Given the description of an element on the screen output the (x, y) to click on. 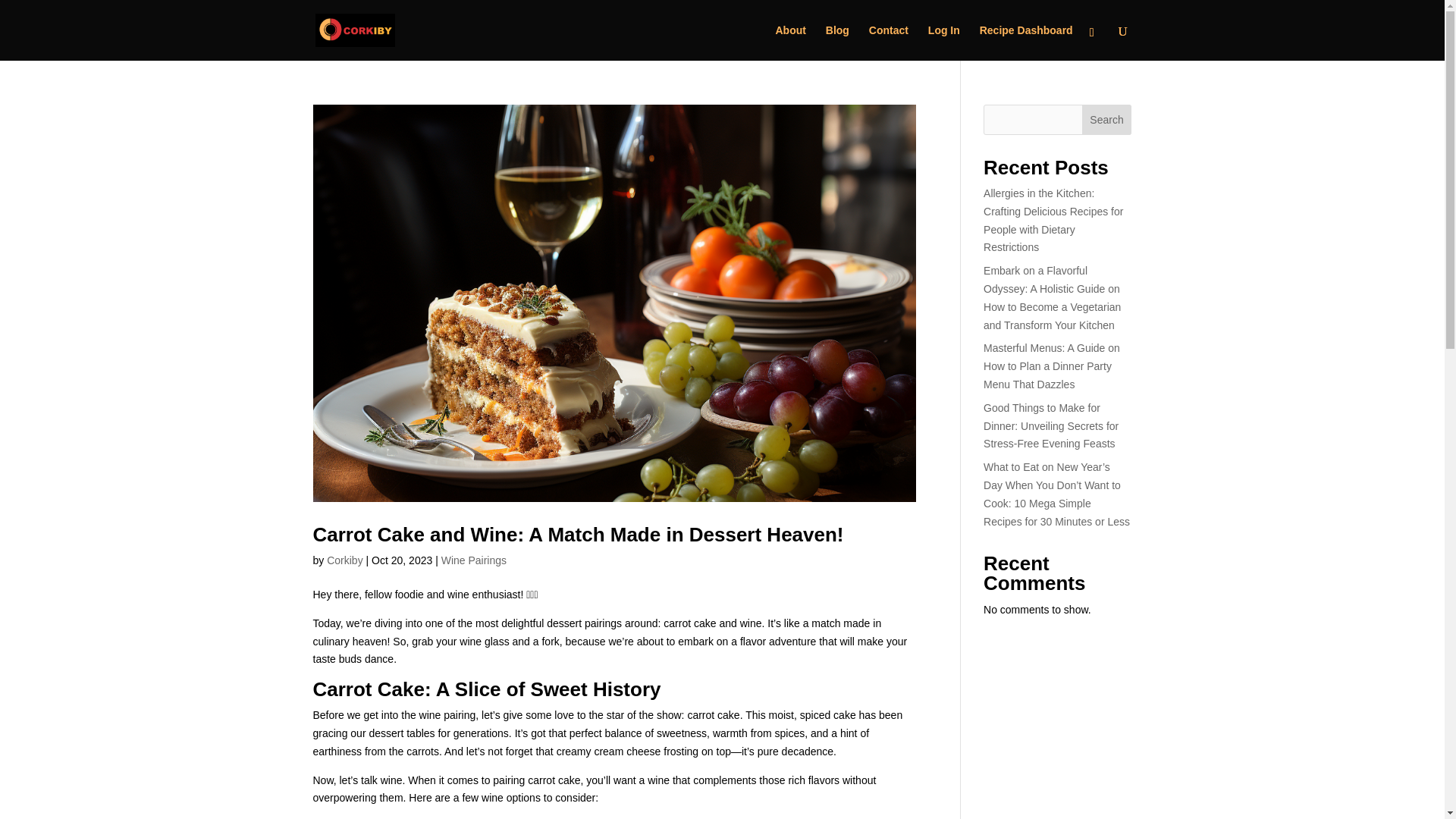
Log In (943, 42)
Wine Pairings (473, 560)
Posts by Corkiby (344, 560)
Carrot Cake and Wine: A Match Made in Dessert Heaven! (578, 534)
Recipe Dashboard (1026, 42)
Search (1106, 119)
Contact (888, 42)
